Given the description of an element on the screen output the (x, y) to click on. 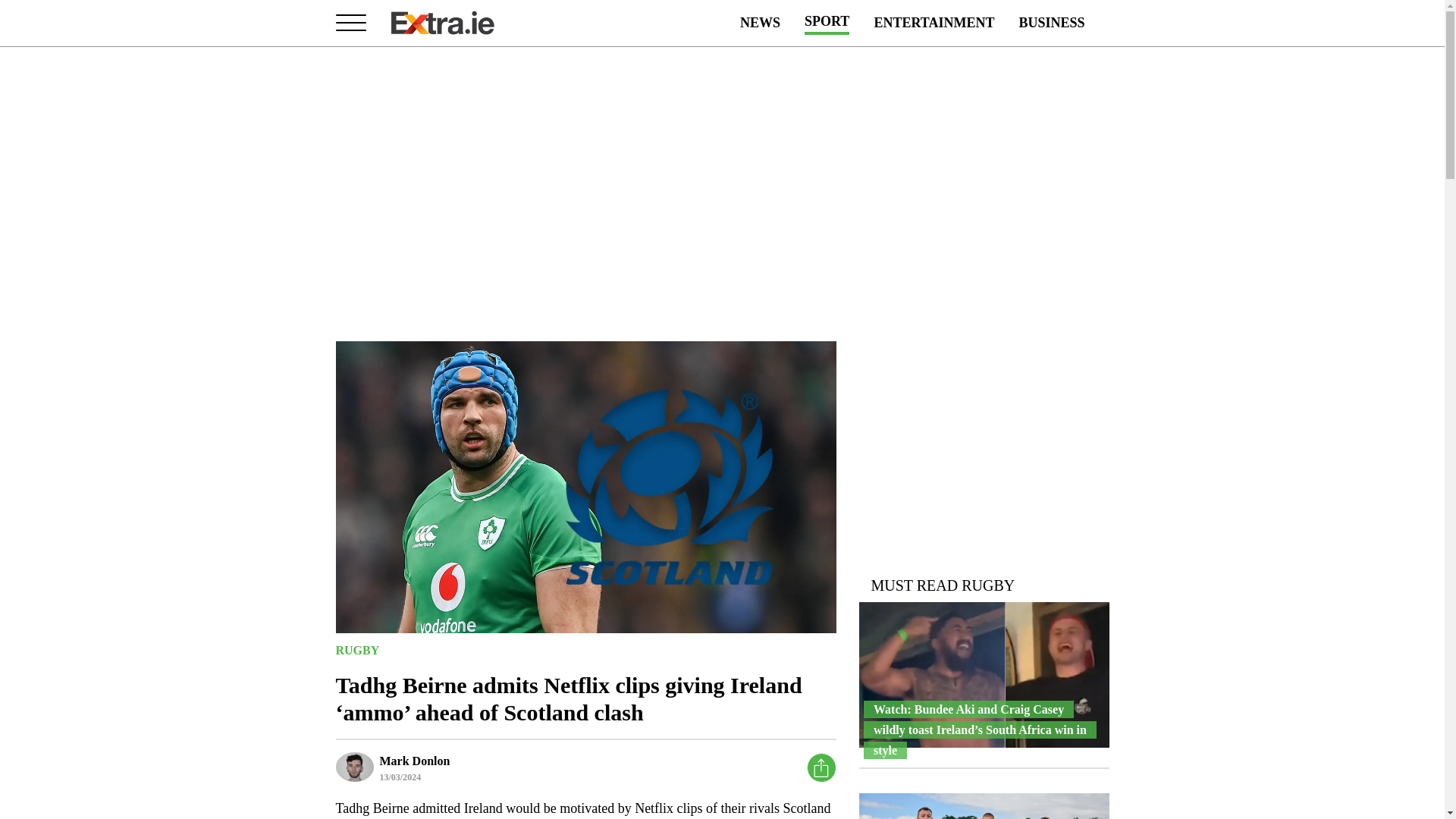
SPORT (826, 23)
NEWS (759, 23)
Mark Donlon (413, 759)
BUSINESS (1050, 23)
RUGBY (356, 649)
ENTERTAINMENT (933, 23)
